Given the description of an element on the screen output the (x, y) to click on. 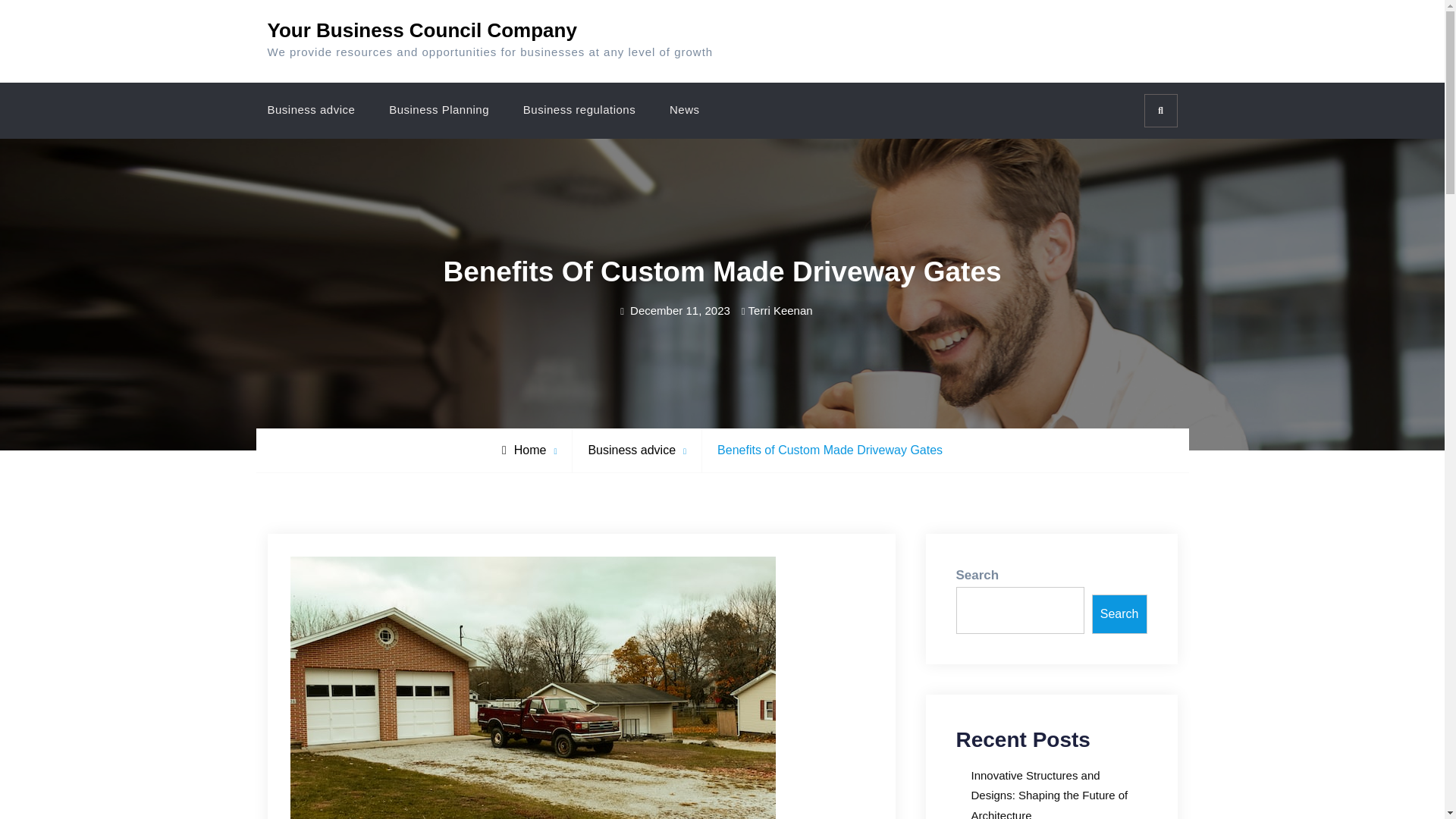
Business advice (310, 110)
News (683, 110)
Business Planning (438, 110)
Search (1159, 110)
Terri Keenan (780, 309)
Business advice (631, 449)
Search (1119, 613)
December 11, 2023 (680, 309)
Your Business Council Company (421, 29)
Home (524, 449)
Business regulations (579, 110)
